Given the description of an element on the screen output the (x, y) to click on. 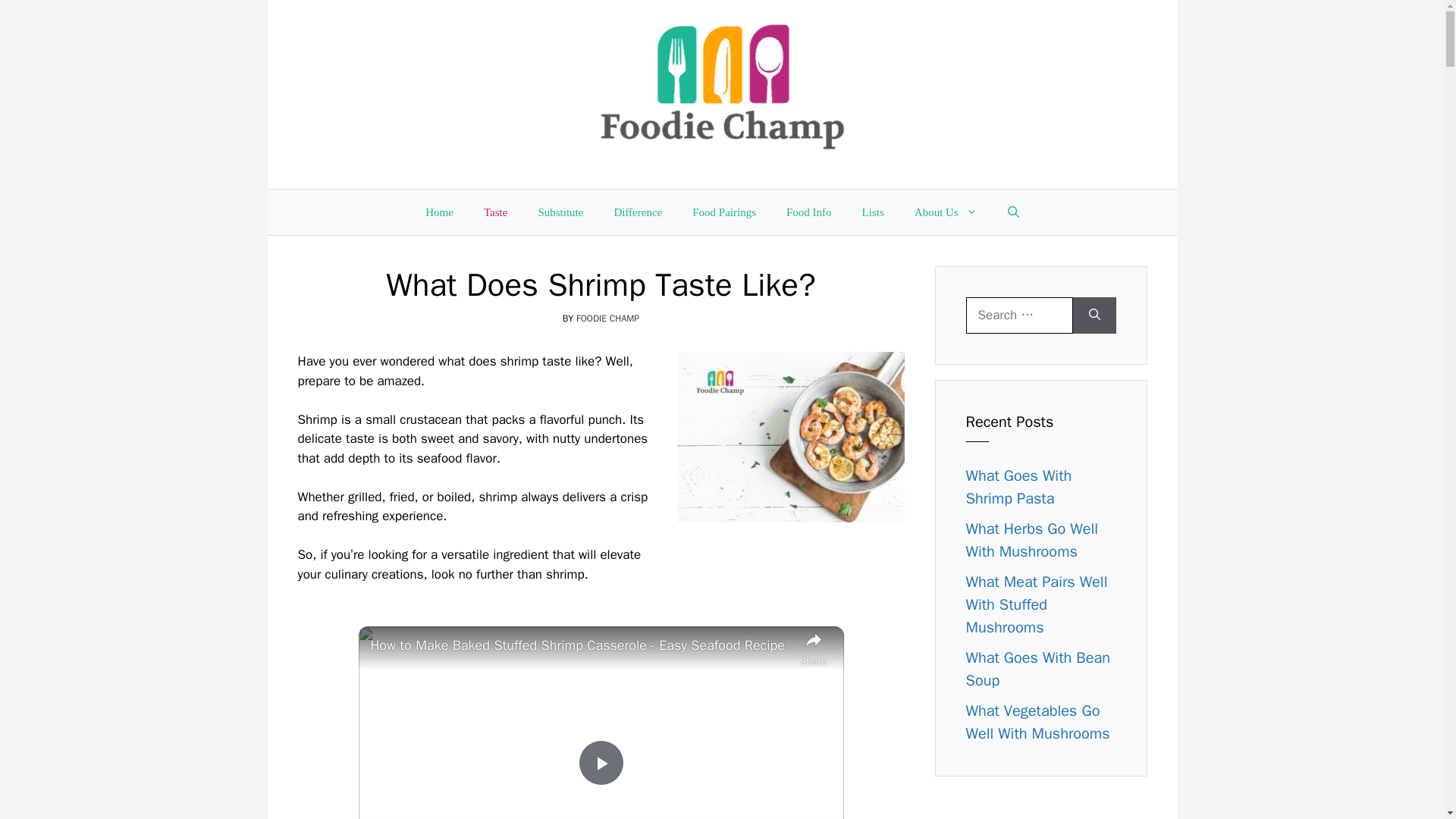
Difference (637, 212)
About Us (945, 212)
Taste (495, 212)
Food Pairings (724, 212)
Food Info (809, 212)
Lists (873, 212)
View all posts by Foodie Champ (607, 318)
Play Video (600, 762)
FOODIE CHAMP (607, 318)
Play Video (600, 762)
Substitute (560, 212)
what does shrimp taste like? (790, 437)
Home (439, 212)
